Given the description of an element on the screen output the (x, y) to click on. 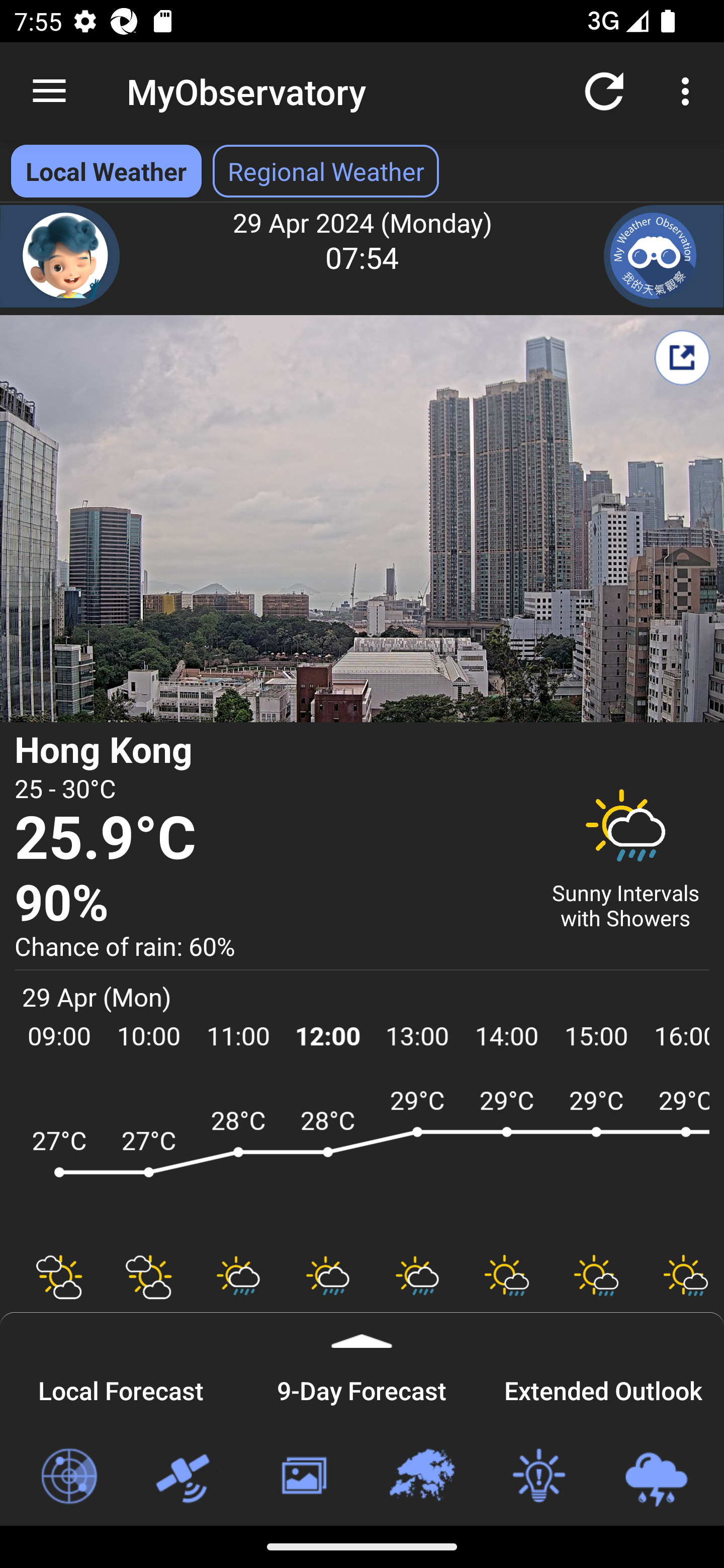
Navigate up (49, 91)
Refresh (604, 90)
More options (688, 90)
Local Weather Local Weather selected (105, 170)
Regional Weather Select Regional Weather (325, 170)
Chatbot (60, 256)
My Weather Observation (663, 256)
Share My Weather Report (681, 357)
25.9°C Temperature
25.9 degree Celsius (270, 839)
90% Relative Humidity
90 percent (270, 903)
ARWF (361, 1160)
Expand (362, 1330)
Local Forecast (120, 1387)
Extended Outlook (603, 1387)
Radar Images (68, 1476)
Satellite Images (185, 1476)
Weather Photos (302, 1476)
Regional Weather (420, 1476)
Weather Tips (537, 1476)
Loc-based Rain & Lightning Forecast (655, 1476)
